Given the description of an element on the screen output the (x, y) to click on. 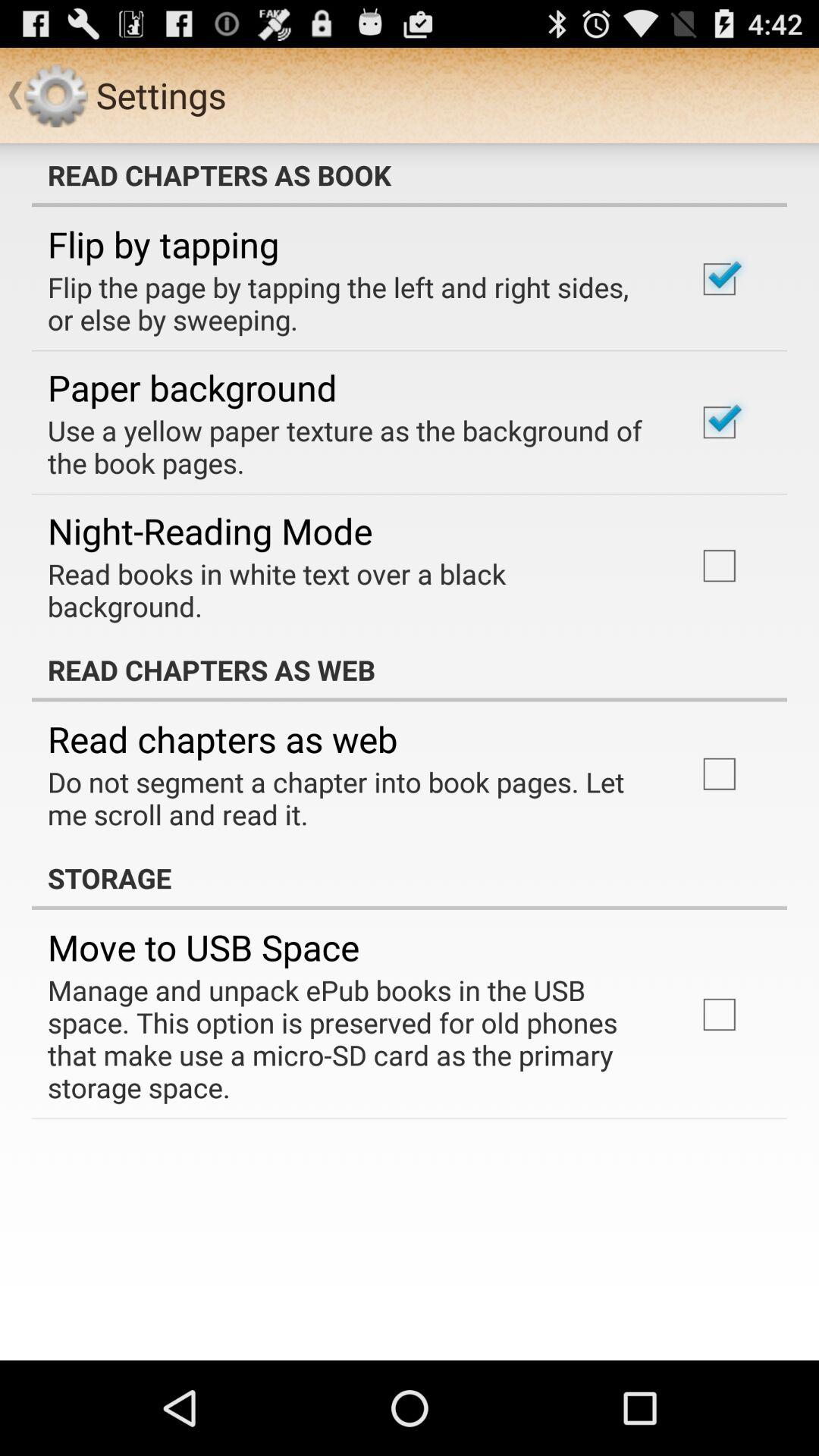
open the icon below move to usb app (351, 1038)
